Given the description of an element on the screen output the (x, y) to click on. 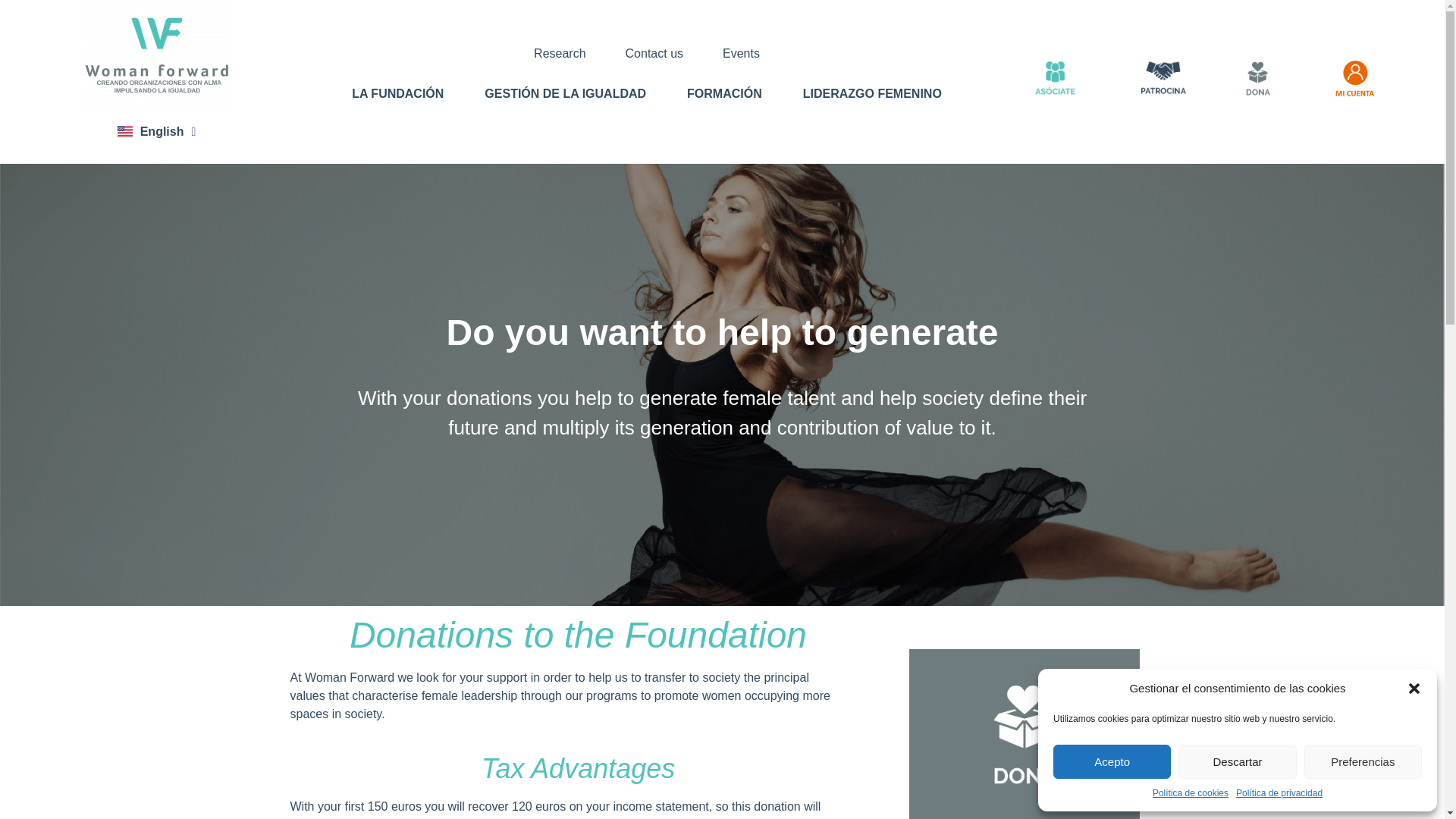
Acepto (1111, 761)
LIDERAZGO FEMENINO (872, 94)
Descartar (1236, 761)
Events (740, 54)
English (156, 131)
Contact us (654, 54)
Research (559, 54)
Preferencias (1363, 761)
